Given the description of an element on the screen output the (x, y) to click on. 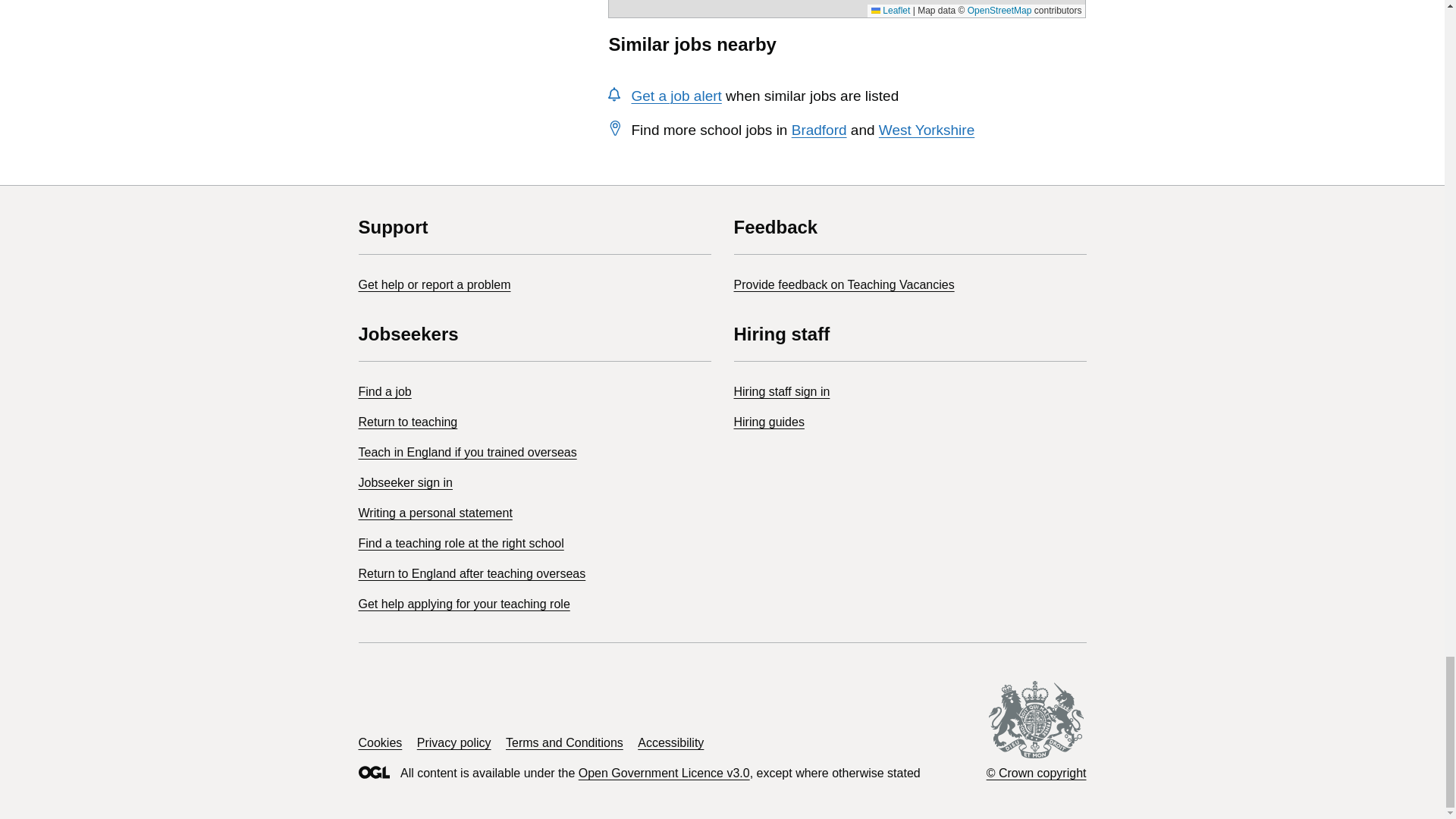
Find a teaching role at the right school (460, 543)
Writing a personal statement (435, 512)
Get a job alert (675, 95)
A JavaScript library for interactive maps (890, 9)
West Yorkshire (926, 130)
Teach in England if you trained overseas (467, 451)
Return to teaching (407, 421)
Jobseeker sign in (405, 481)
Get help or report a problem (434, 284)
Leaflet (890, 9)
Find a job (384, 391)
Bradford (819, 130)
OpenStreetMap (1000, 9)
